Given the description of an element on the screen output the (x, y) to click on. 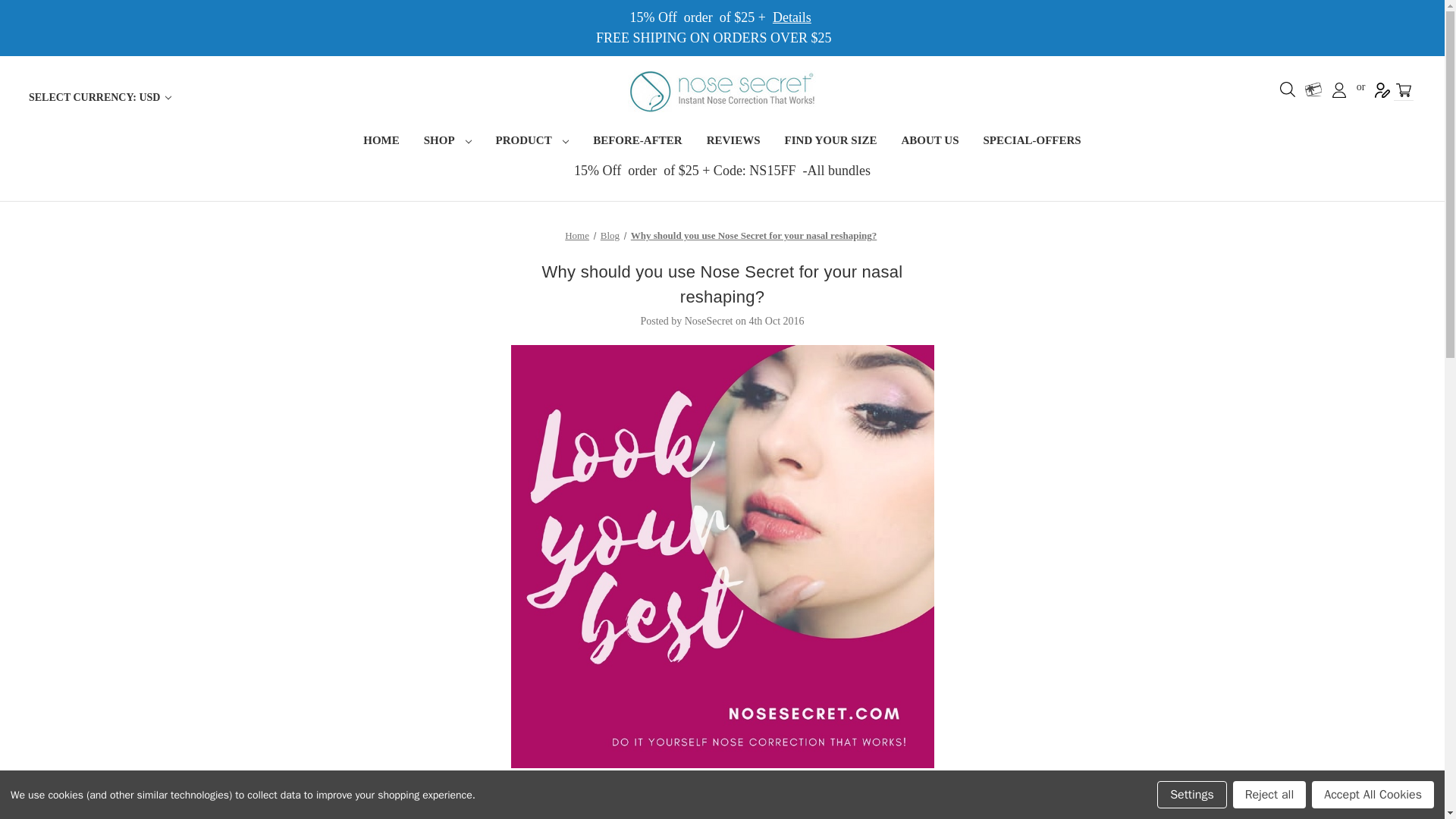
HOME (381, 141)
Home (576, 235)
Blog (609, 235)
REGISTER (1382, 89)
CART (1403, 90)
SELECT CURRENCY: USD (99, 97)
GIFT CERTIFICATES (1313, 88)
SEARCH (1287, 88)
SIGN IN (1339, 89)
SHOP (447, 141)
PRODUCT (531, 141)
FIND YOUR SIZE (831, 141)
BEFORE-AFTER (637, 141)
REVIEWS (733, 141)
SPECIAL-OFFERS (1032, 141)
